Given the description of an element on the screen output the (x, y) to click on. 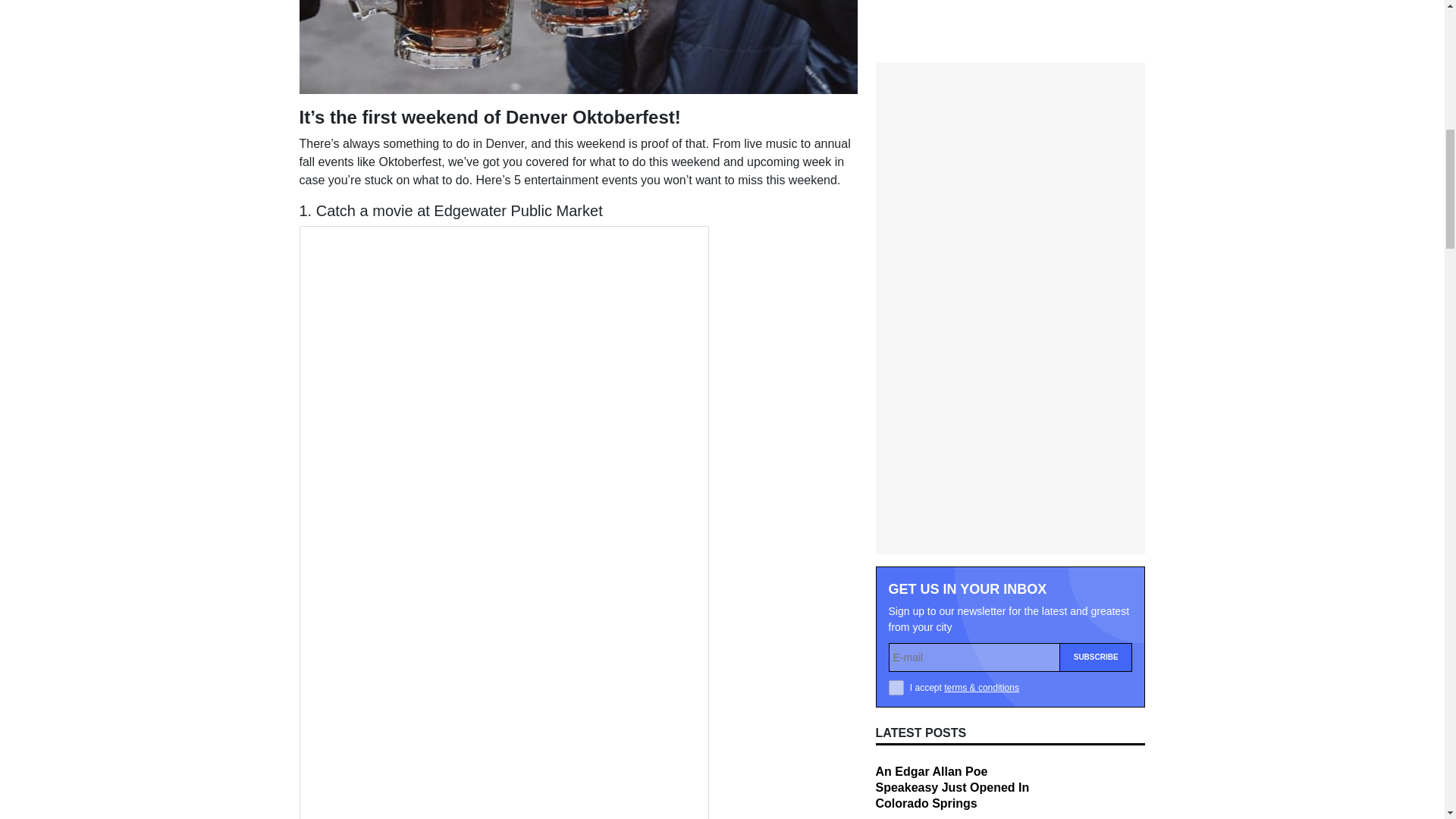
An Edgar Allan Poe Speakeasy Just Opened In Colorado Springs (952, 447)
JULY 4, 2024 (902, 686)
1 (896, 346)
JULY 8, 2024 (902, 587)
Subscribe (1095, 316)
AUGUST 1, 2024 (910, 489)
Subscribe (1095, 316)
